Given the description of an element on the screen output the (x, y) to click on. 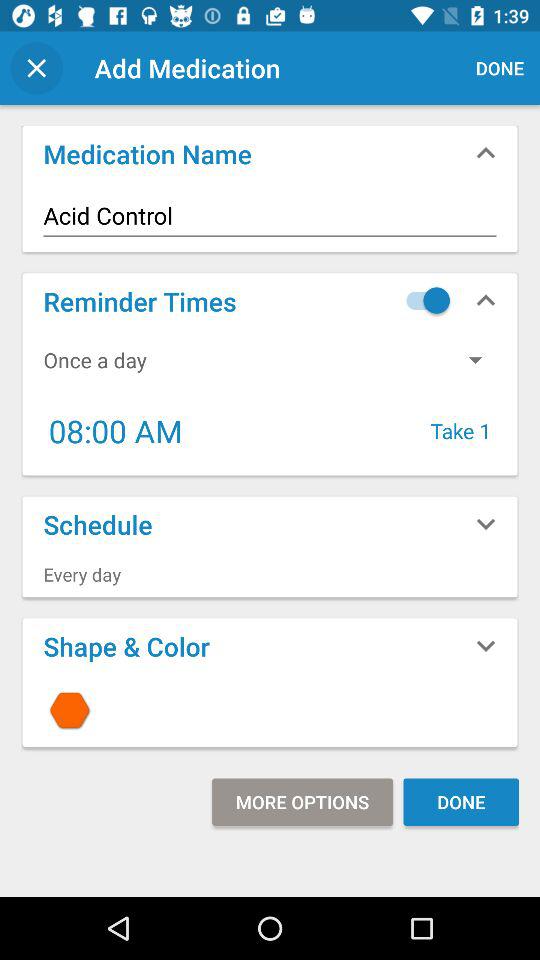
choose acid control item (269, 216)
